Given the description of an element on the screen output the (x, y) to click on. 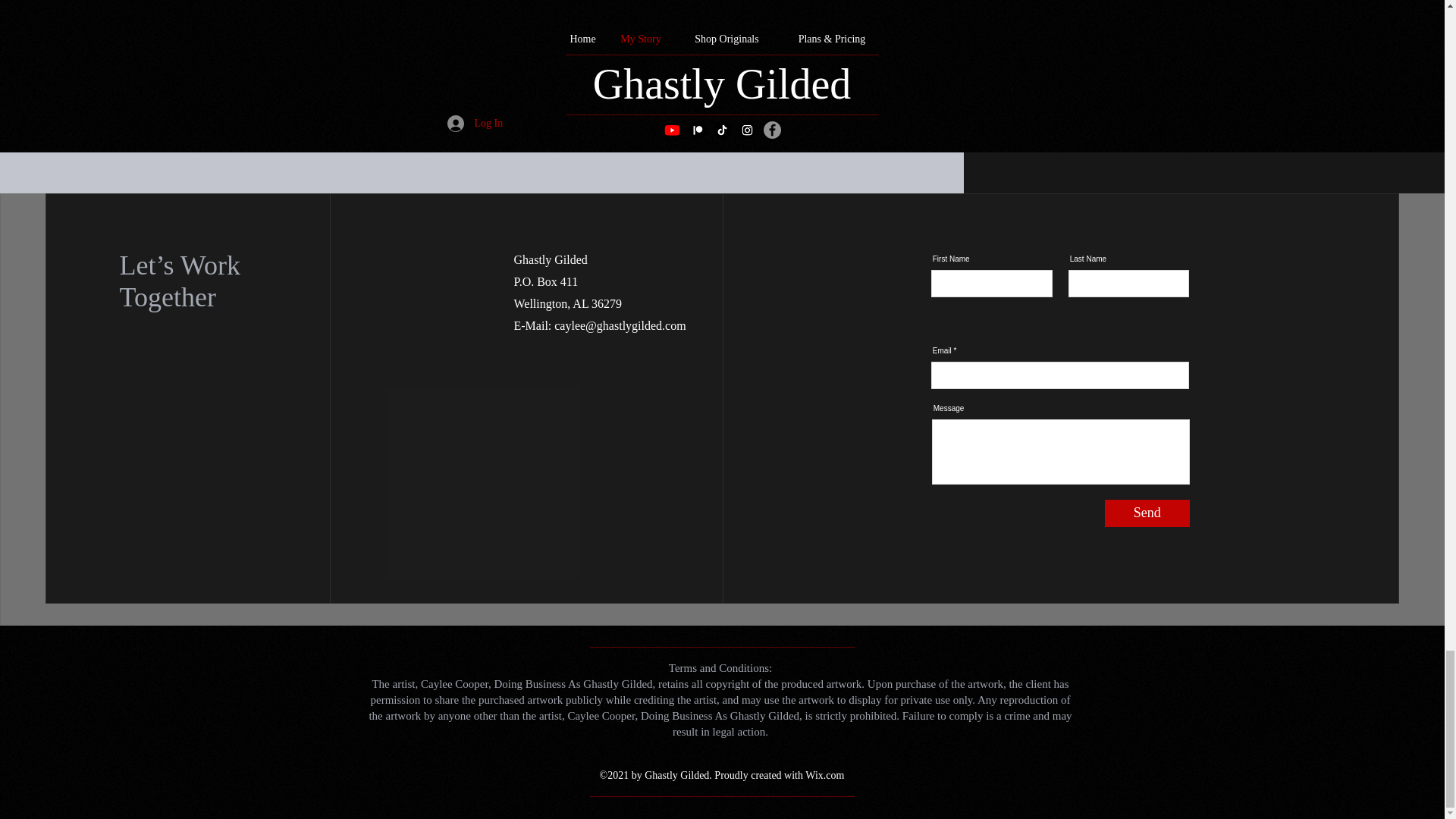
Send (1147, 513)
